Given the description of an element on the screen output the (x, y) to click on. 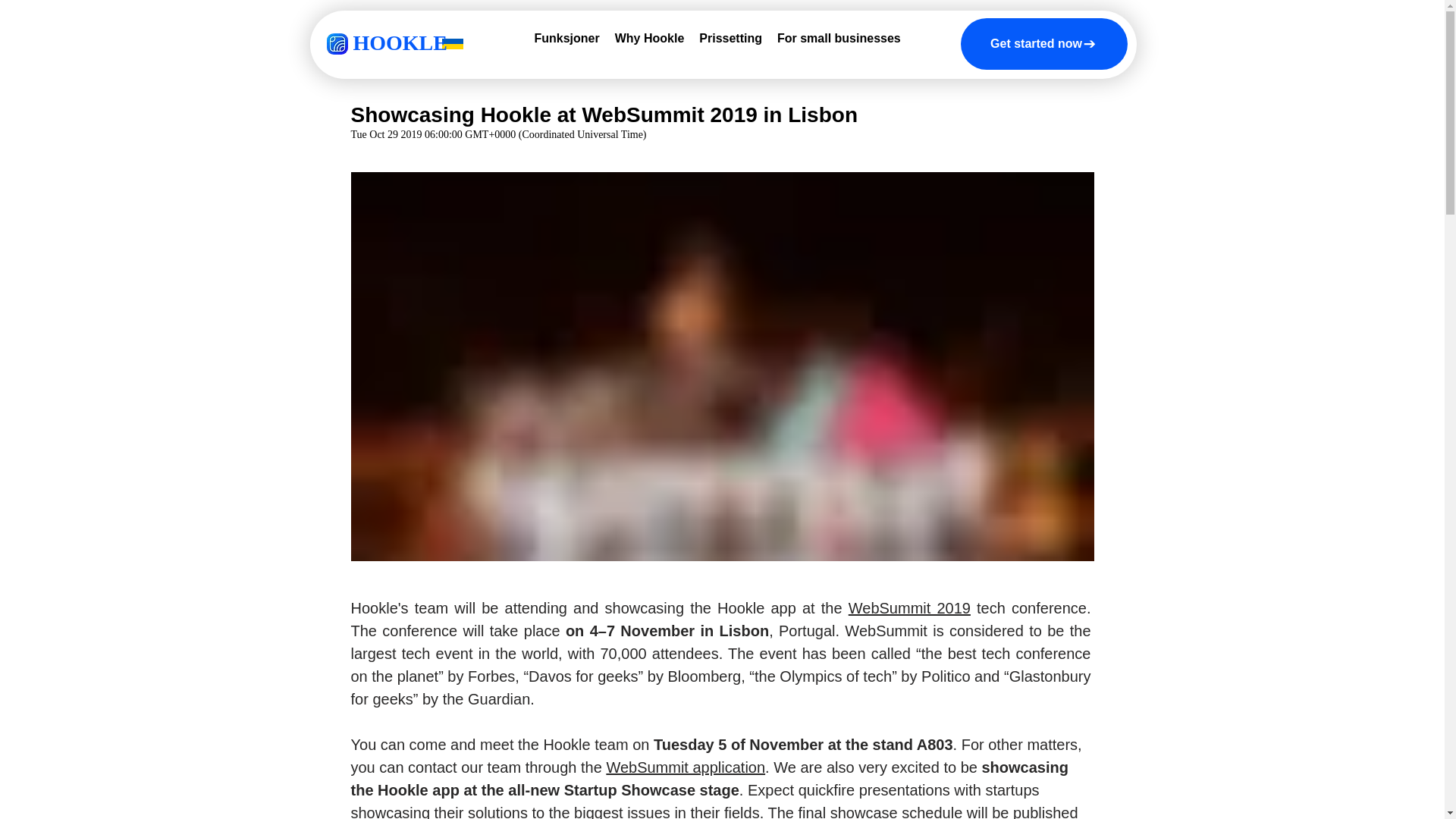
HOOKLE (399, 42)
Get started now (1042, 43)
Prissetting (730, 42)
WebSummit 2019 (909, 607)
Funksjoner (566, 42)
Why Hookle (650, 42)
WebSummit application (685, 767)
For small businesses (839, 42)
